Given the description of an element on the screen output the (x, y) to click on. 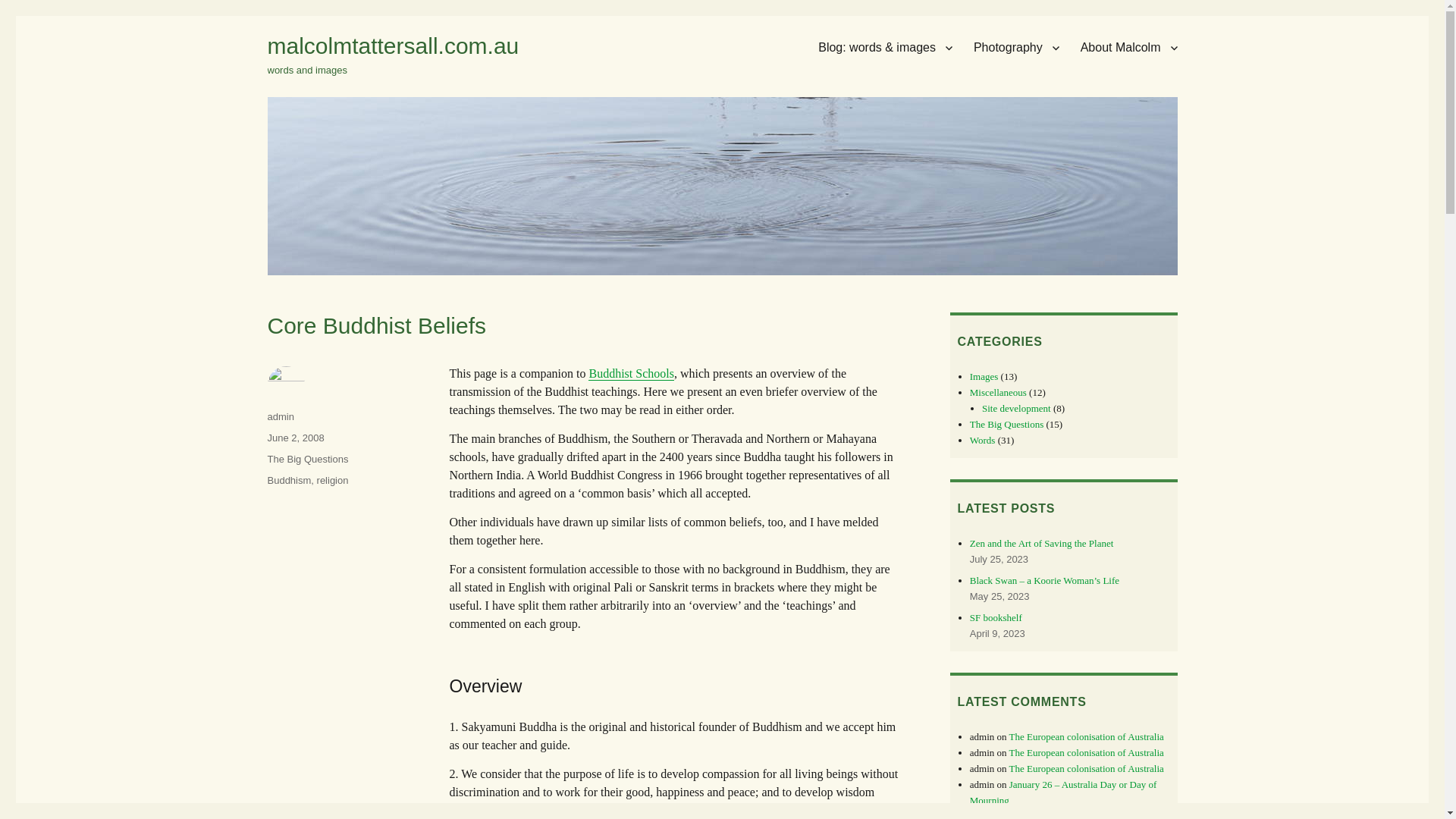
SF bookshelf Element type: text (995, 617)
The European colonisation of Australia Element type: text (1086, 736)
religion Element type: text (332, 480)
The European colonisation of Australia Element type: text (1086, 752)
June 2, 2008 Element type: text (294, 437)
About Malcolm Element type: text (1129, 47)
admin Element type: text (279, 416)
Blog: words & images Element type: text (885, 47)
malcolmtattersall.com.au Element type: text (392, 45)
Zen and the Art of Saving the Planet Element type: text (1041, 543)
Words Element type: text (982, 439)
Buddhism Element type: text (288, 480)
Site development Element type: text (1016, 408)
Buddhist Schools Element type: text (630, 373)
Images Element type: text (983, 376)
Photography Element type: text (1016, 47)
Miscellaneous Element type: text (997, 392)
The Big Questions Element type: text (1006, 423)
The Big Questions Element type: text (307, 458)
The European colonisation of Australia Element type: text (1086, 768)
